Given the description of an element on the screen output the (x, y) to click on. 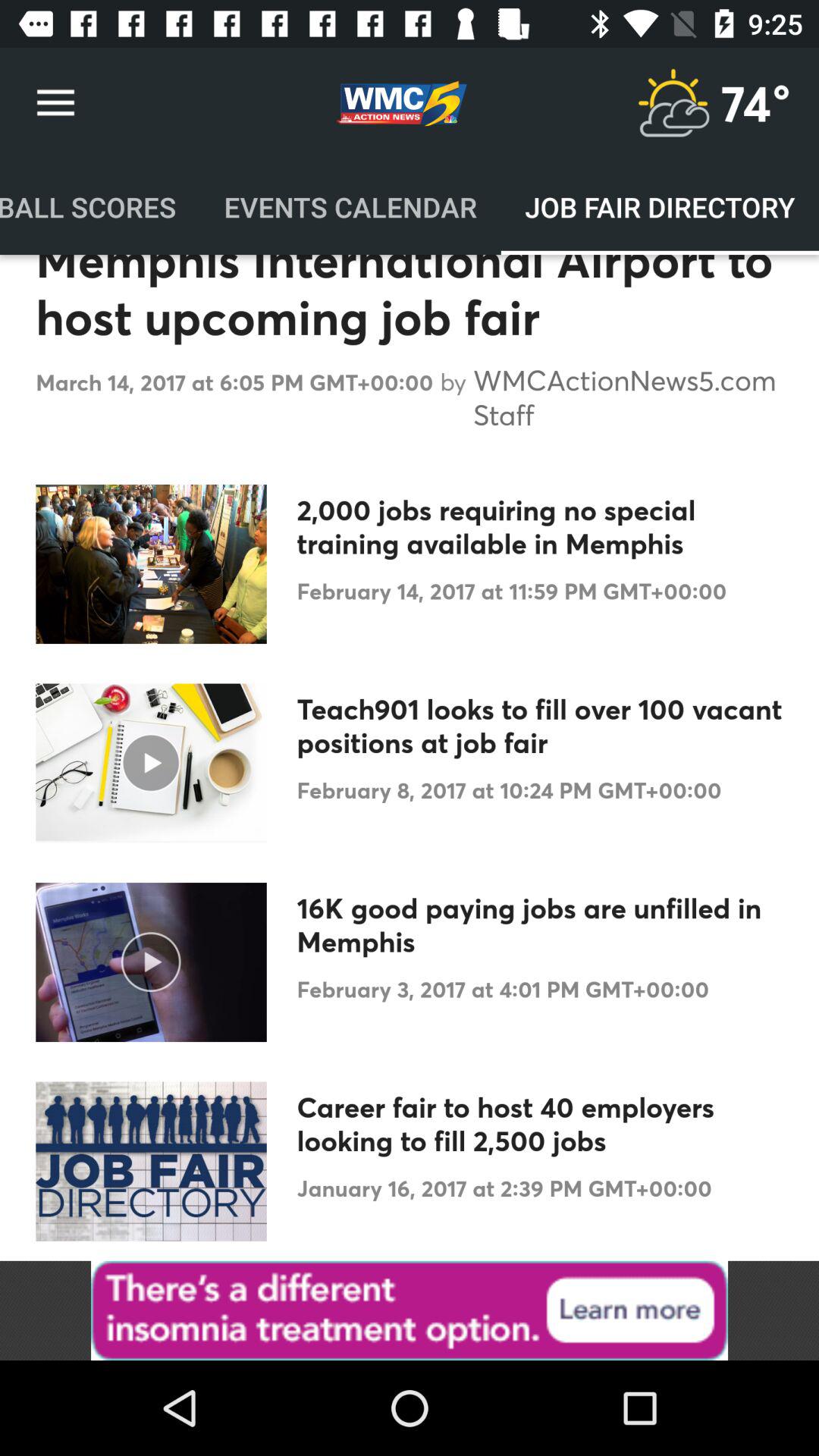
learn more option (409, 1310)
